Given the description of an element on the screen output the (x, y) to click on. 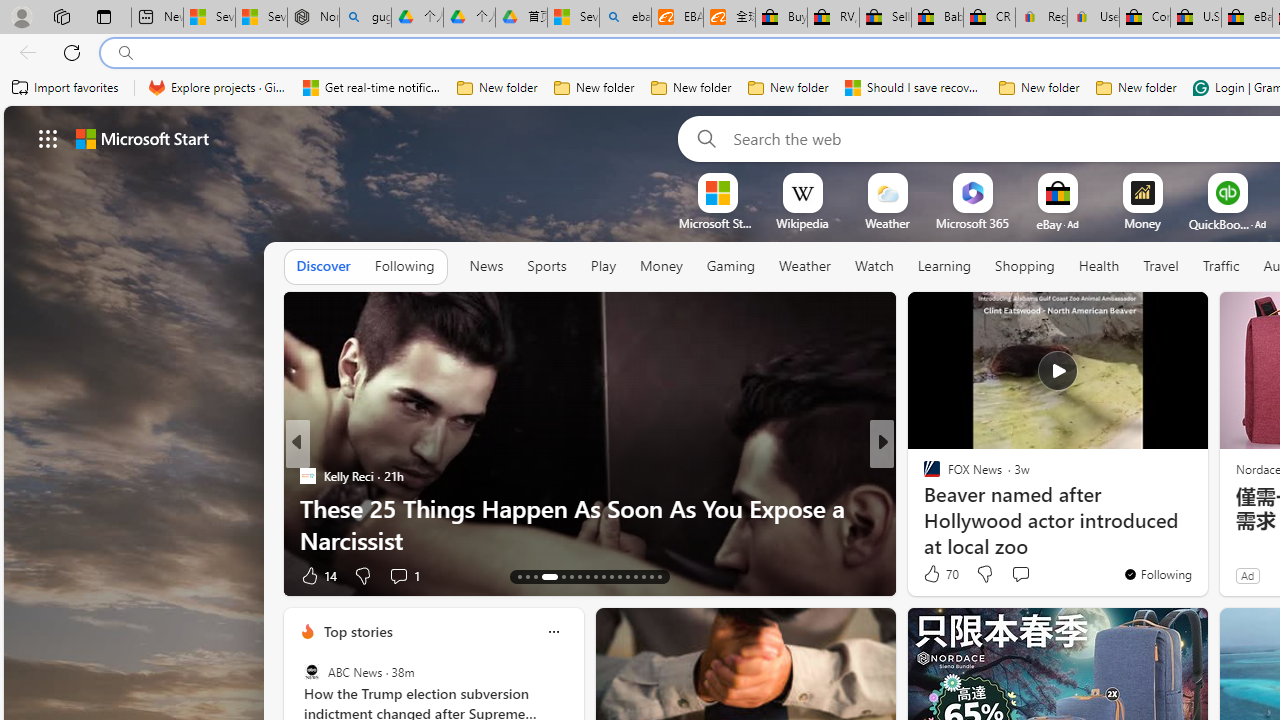
AutomationID: tab-35 (659, 576)
AutomationID: tab-20 (586, 576)
